Given the description of an element on the screen output the (x, y) to click on. 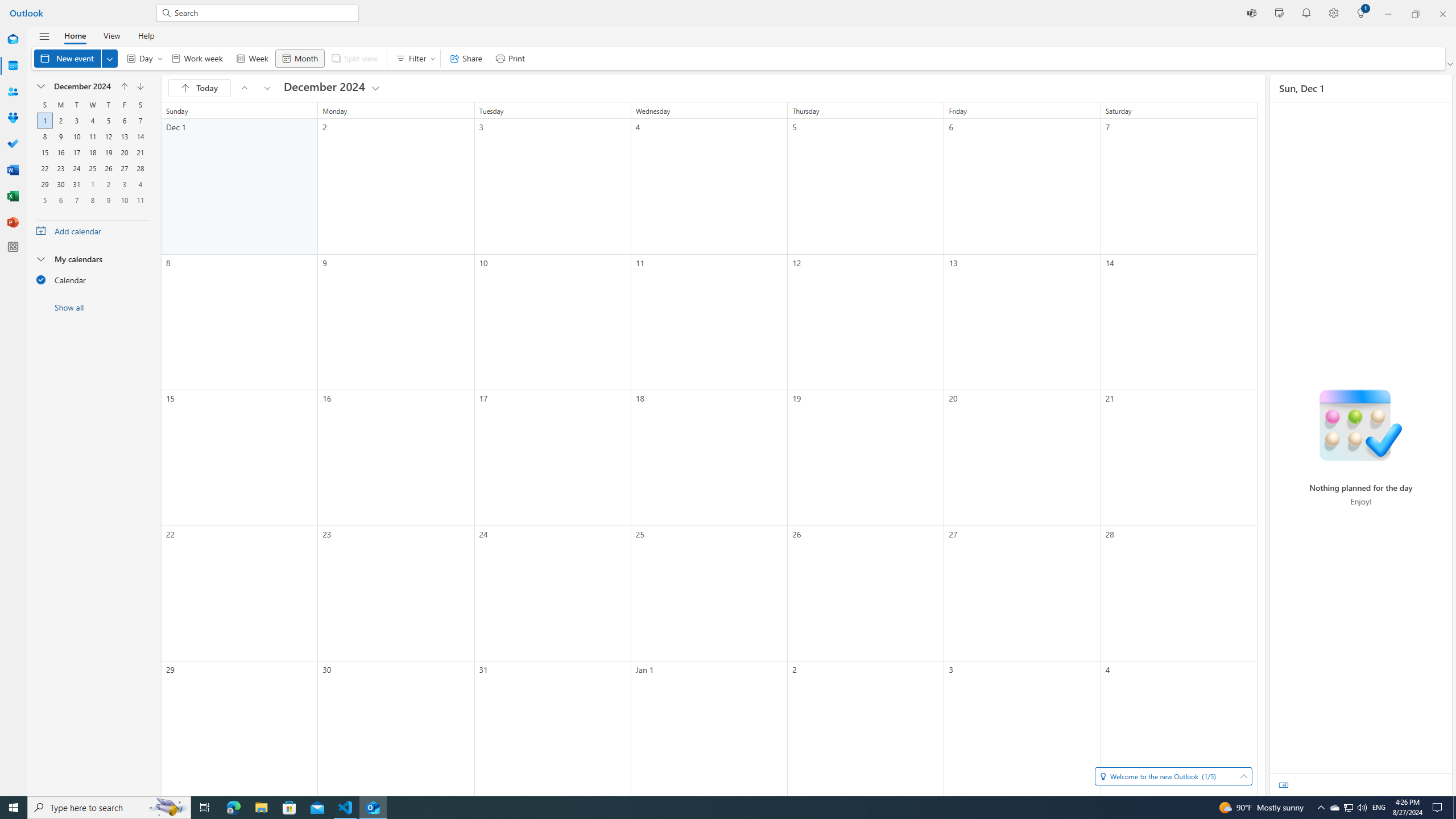
10, December, 2024 (75, 136)
2, December, 2024 (60, 120)
Week (251, 58)
Show desktop (1454, 807)
11, December, 2024 (92, 136)
23, December, 2024 (59, 168)
7, January, 2025 (76, 200)
21, December, 2024 (140, 152)
1, December, 2024 (44, 120)
24, December, 2024 (76, 168)
23, December, 2024 (60, 168)
1, December, 2024 (44, 120)
December 2024, select to change the month (82, 86)
7, December, 2024 (140, 120)
25, December, 2024 (92, 168)
